Given the description of an element on the screen output the (x, y) to click on. 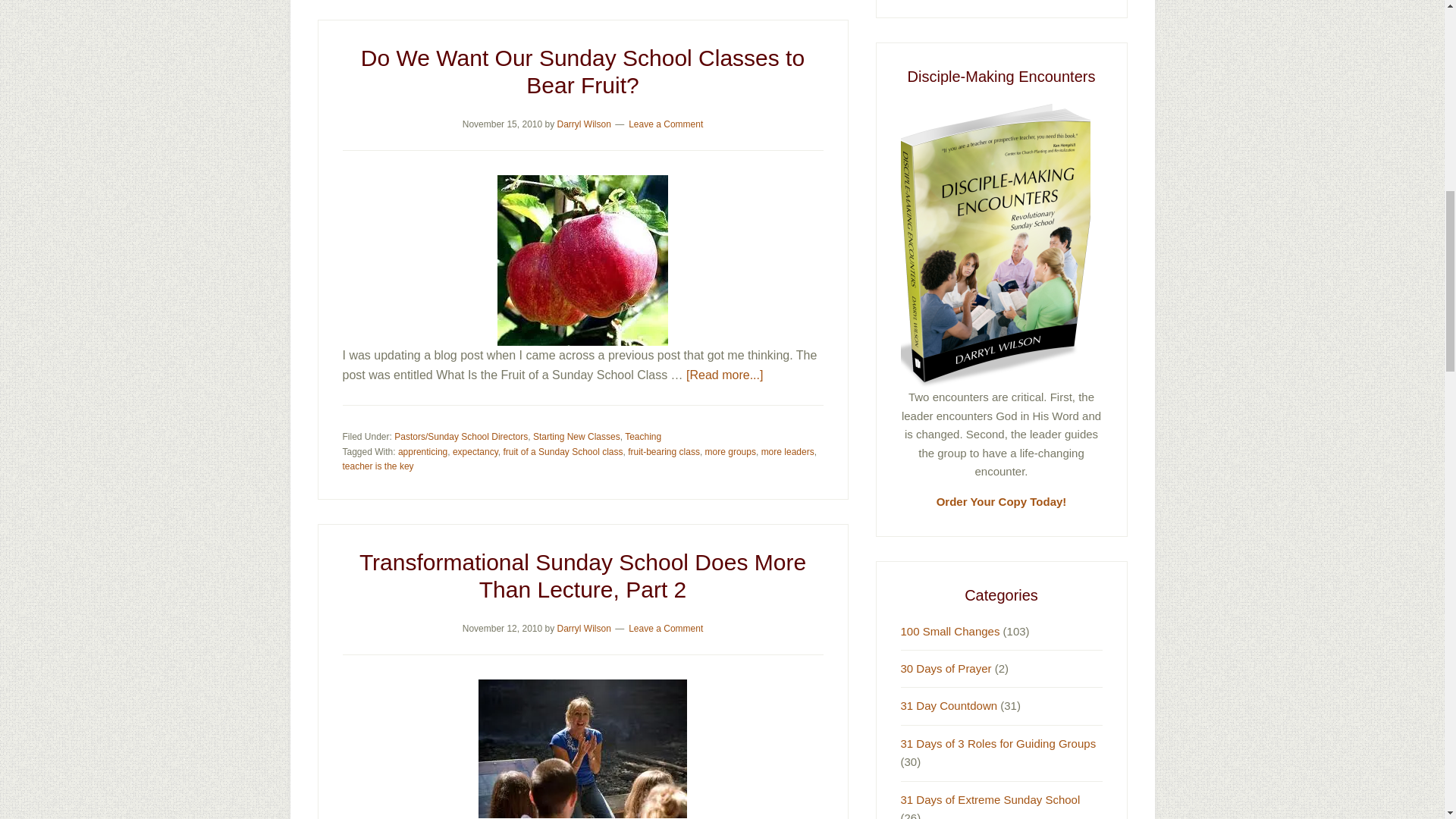
more groups (729, 450)
Do We Want Our Sunday School Classes to Bear Fruit? (583, 71)
Darryl Wilson (583, 122)
apprenticing (421, 450)
more leaders (787, 450)
Leave a Comment (665, 122)
Starting New Classes (576, 436)
Leave a Comment (665, 628)
Darryl Wilson (583, 628)
teacher is the key (377, 466)
Teaching (642, 436)
fruit-bearing class (663, 450)
fruit of a Sunday School class (562, 450)
expectancy (474, 450)
